Given the description of an element on the screen output the (x, y) to click on. 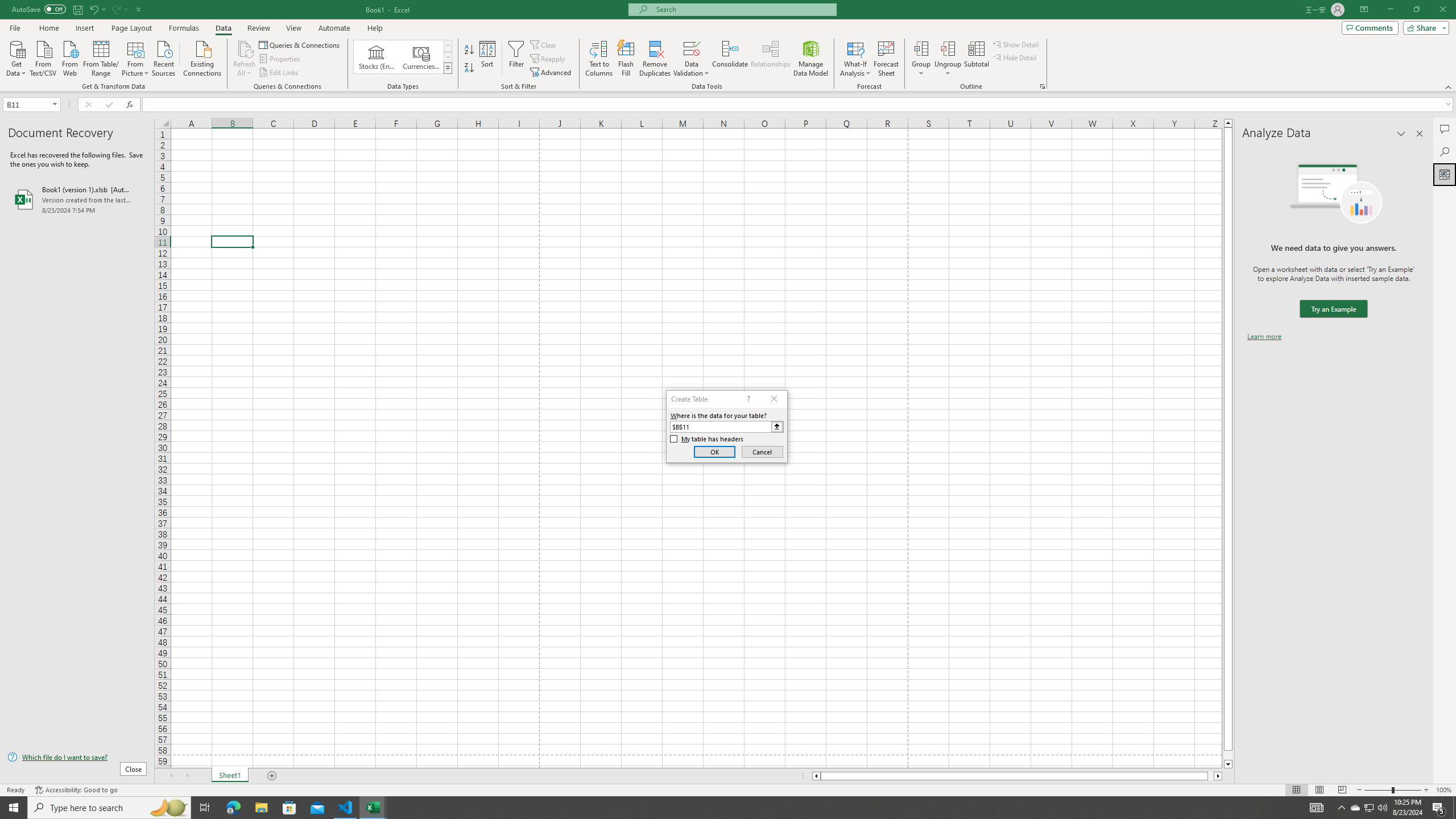
From Picture (135, 57)
